Given the description of an element on the screen output the (x, y) to click on. 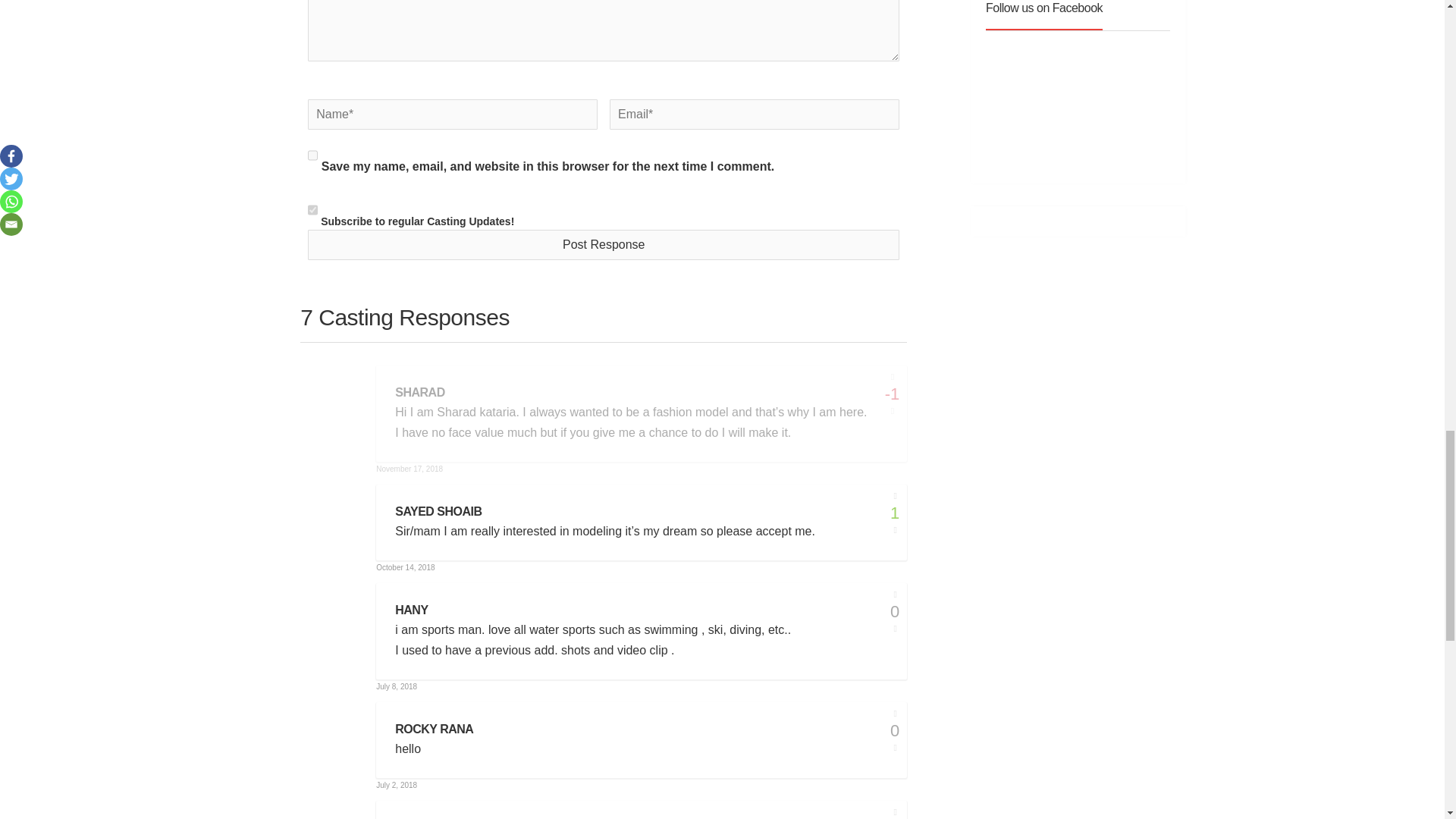
November 17, 2018 (408, 469)
October 14, 2018 (404, 567)
Post Response (603, 245)
July 8, 2018 (395, 686)
July 2, 2018 (395, 785)
